Given the description of an element on the screen output the (x, y) to click on. 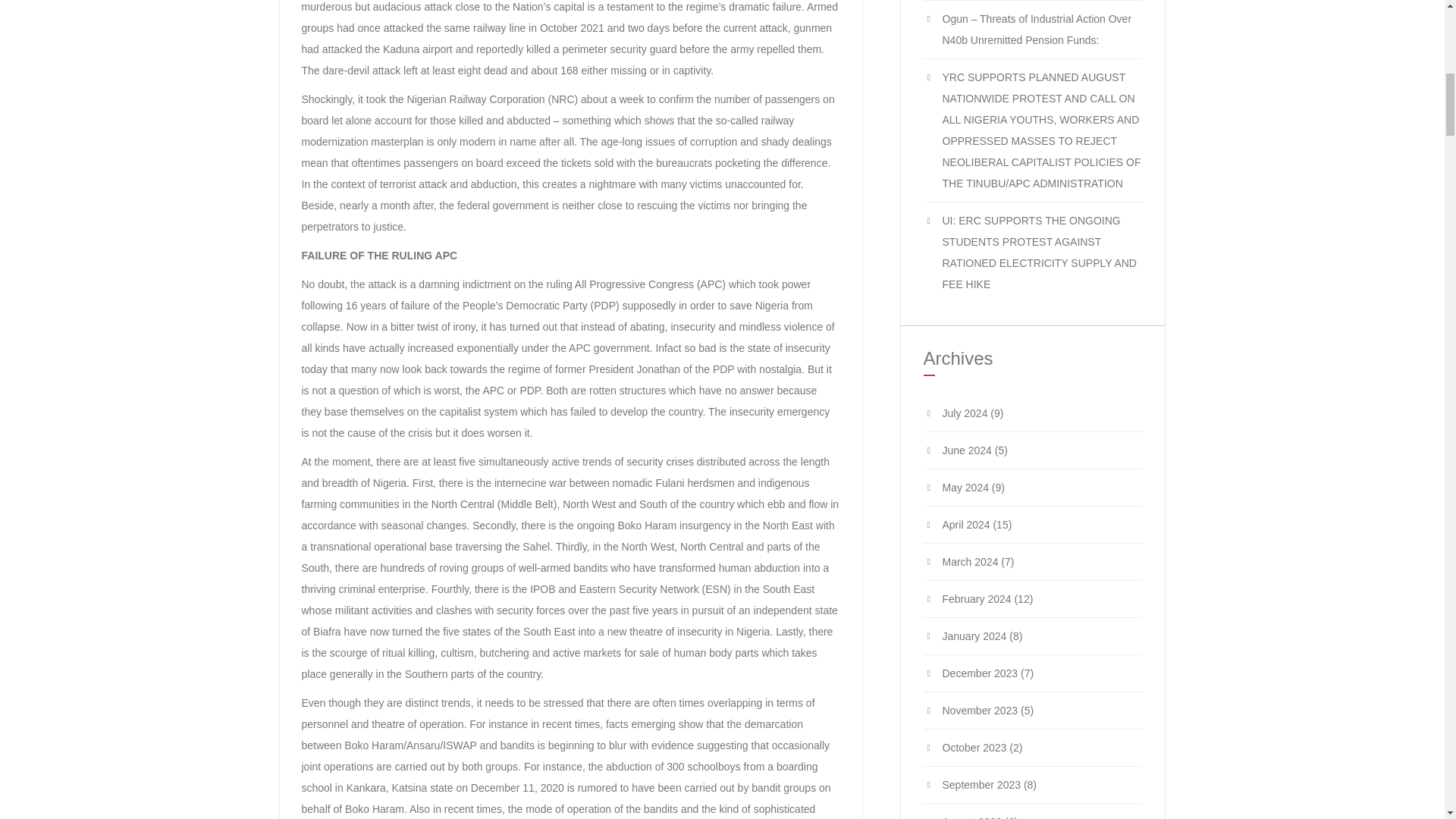
July 2024 (964, 413)
June 2024 (966, 450)
April 2024 (966, 524)
May 2024 (965, 487)
